Given the description of an element on the screen output the (x, y) to click on. 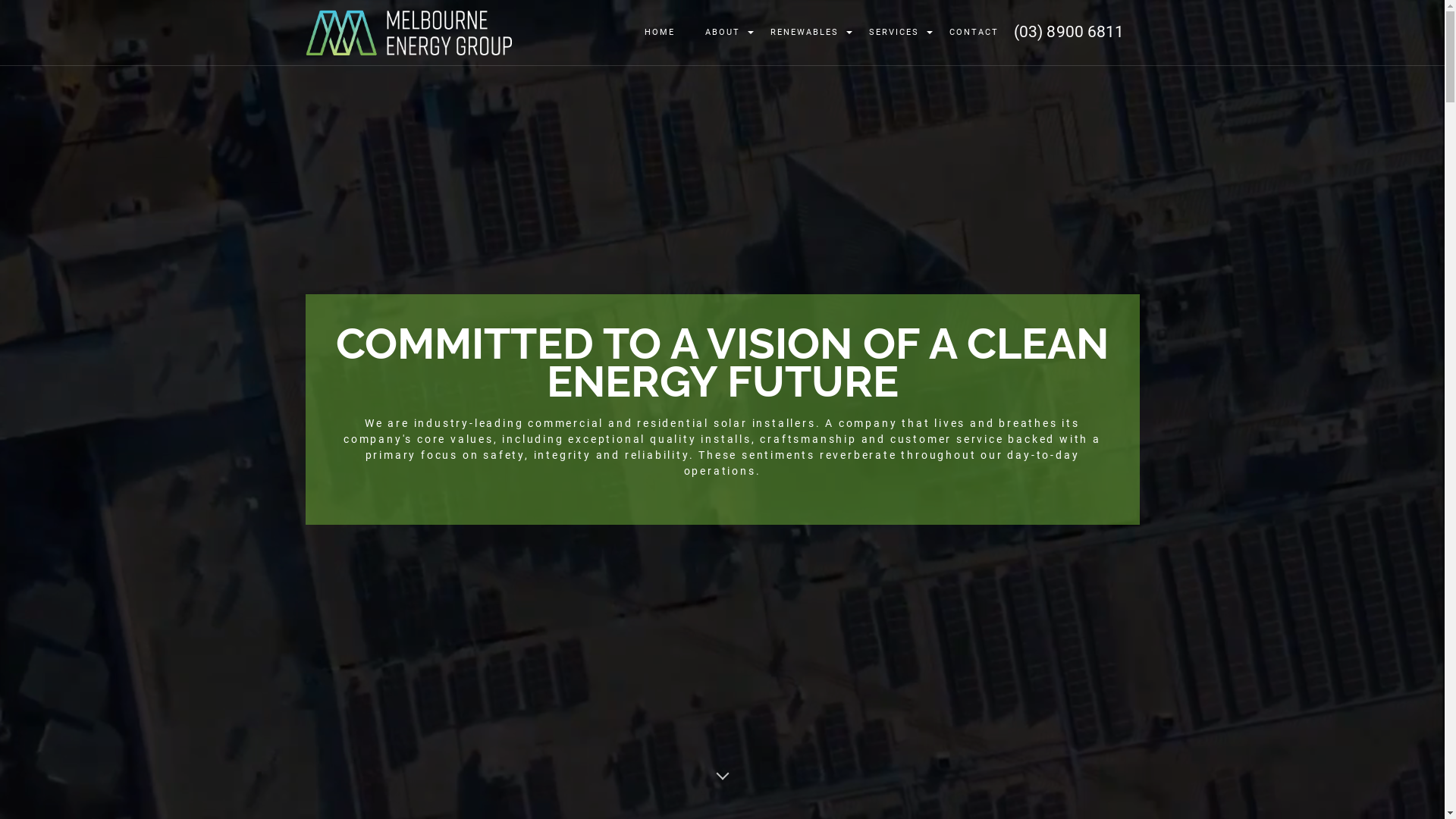
RENEWABLES Element type: text (804, 32)
CONTACT Element type: text (973, 32)
ABOUT Element type: text (722, 32)
(03) 8900 6811 Element type: text (1076, 31)
HOME Element type: text (659, 32)
SERVICES Element type: text (893, 32)
